Given the description of an element on the screen output the (x, y) to click on. 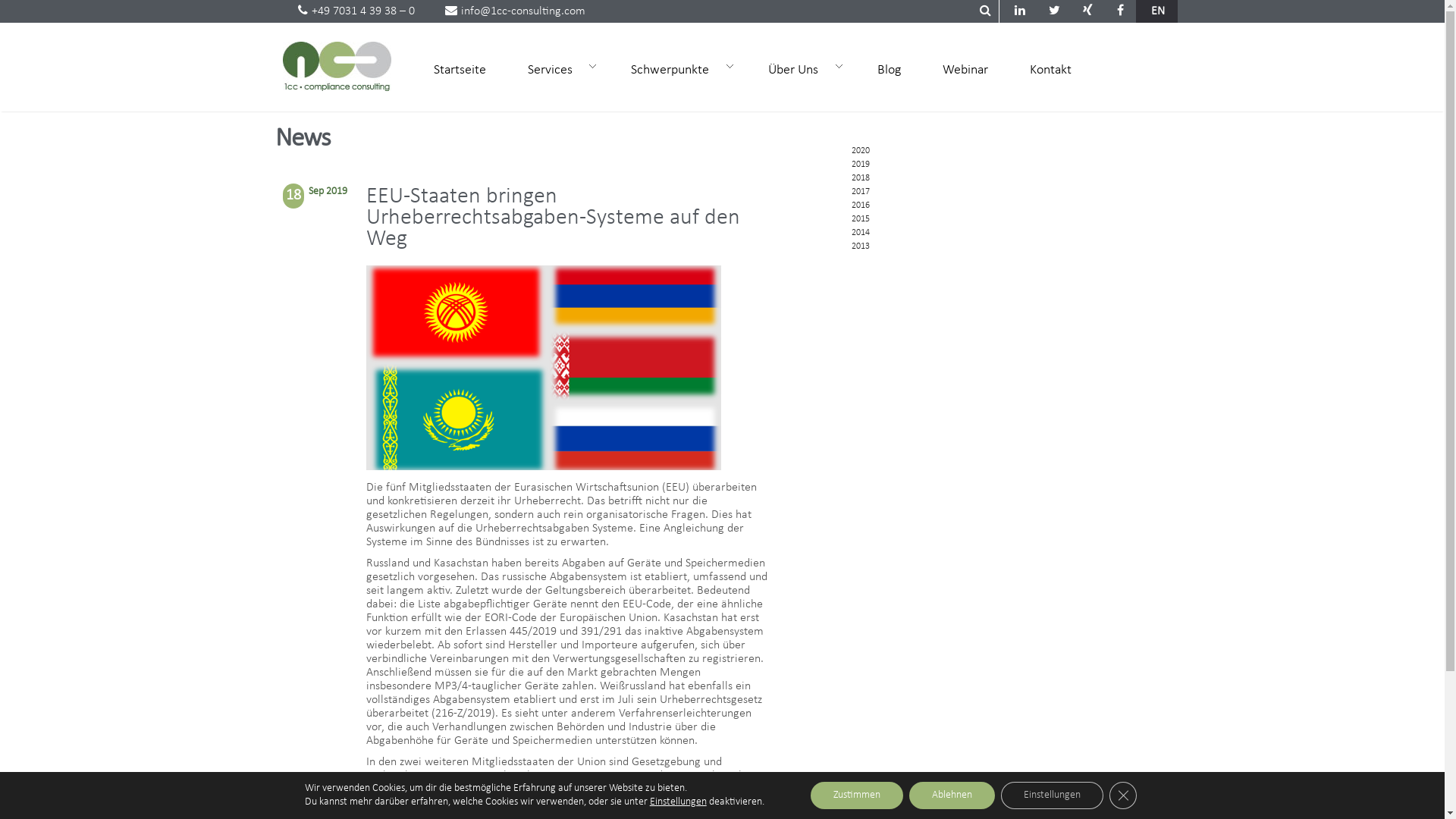
Kontakt Element type: text (1050, 68)
Blog Element type: text (888, 68)
2016 Element type: text (859, 205)
Startseite Element type: text (459, 68)
Einstellungen Element type: text (1052, 795)
Zustimmen Element type: text (856, 795)
2020 Element type: text (859, 150)
2013 Element type: text (859, 246)
2014 Element type: text (859, 232)
Webinar Element type: text (964, 68)
Einstellungen Element type: text (677, 802)
2017 Element type: text (859, 191)
EEU-Staaten bringen Urheberrechtsabgaben-Systeme auf den Weg Element type: text (553, 218)
2015 Element type: text (859, 218)
2018 Element type: text (859, 177)
EN Element type: text (1157, 11)
2019 Element type: text (859, 164)
info@1cc-consulting.com Element type: text (514, 11)
Ablehnen Element type: text (951, 795)
